Given the description of an element on the screen output the (x, y) to click on. 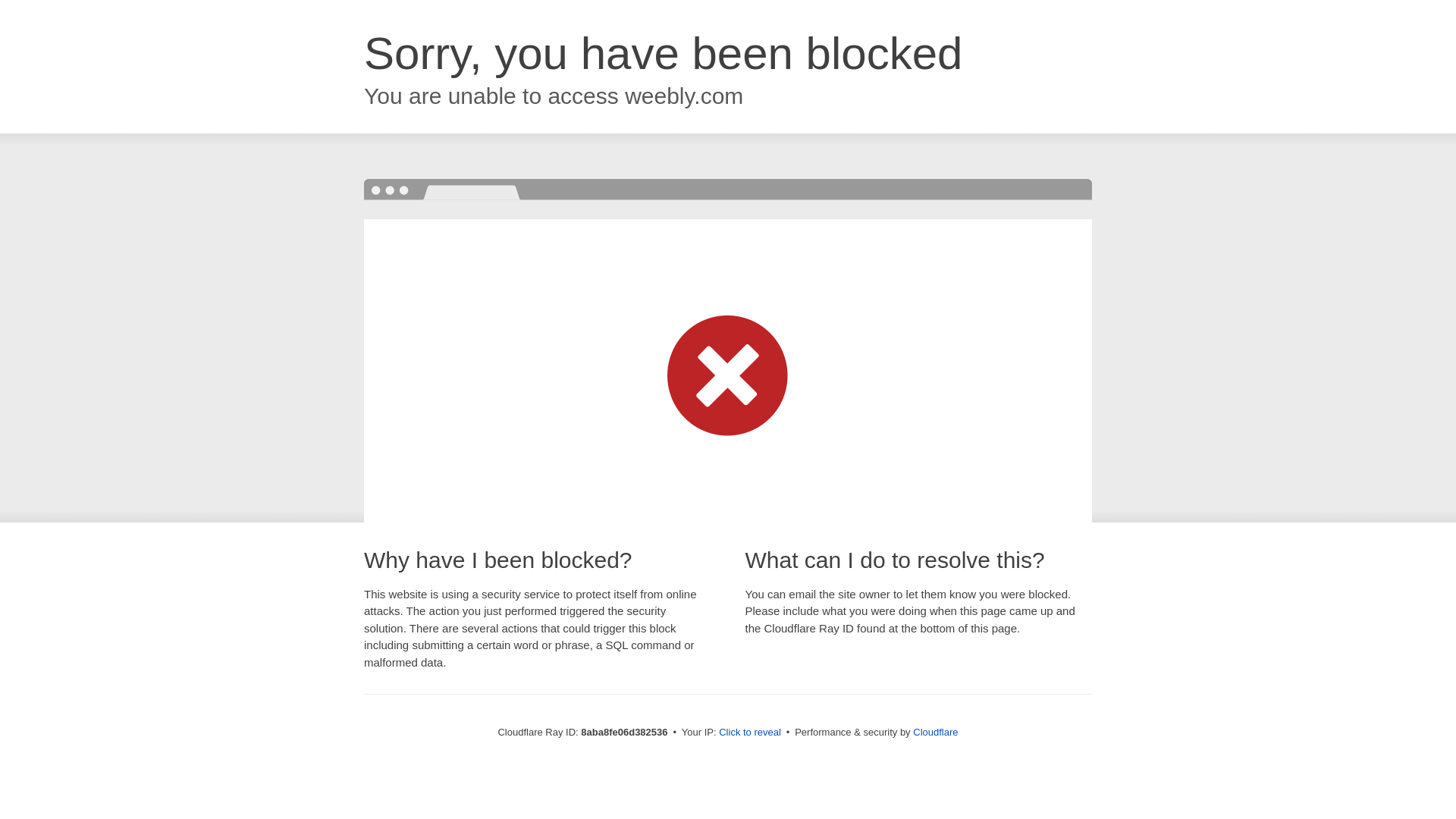
Click to reveal (749, 732)
Cloudflare (935, 731)
